Given the description of an element on the screen output the (x, y) to click on. 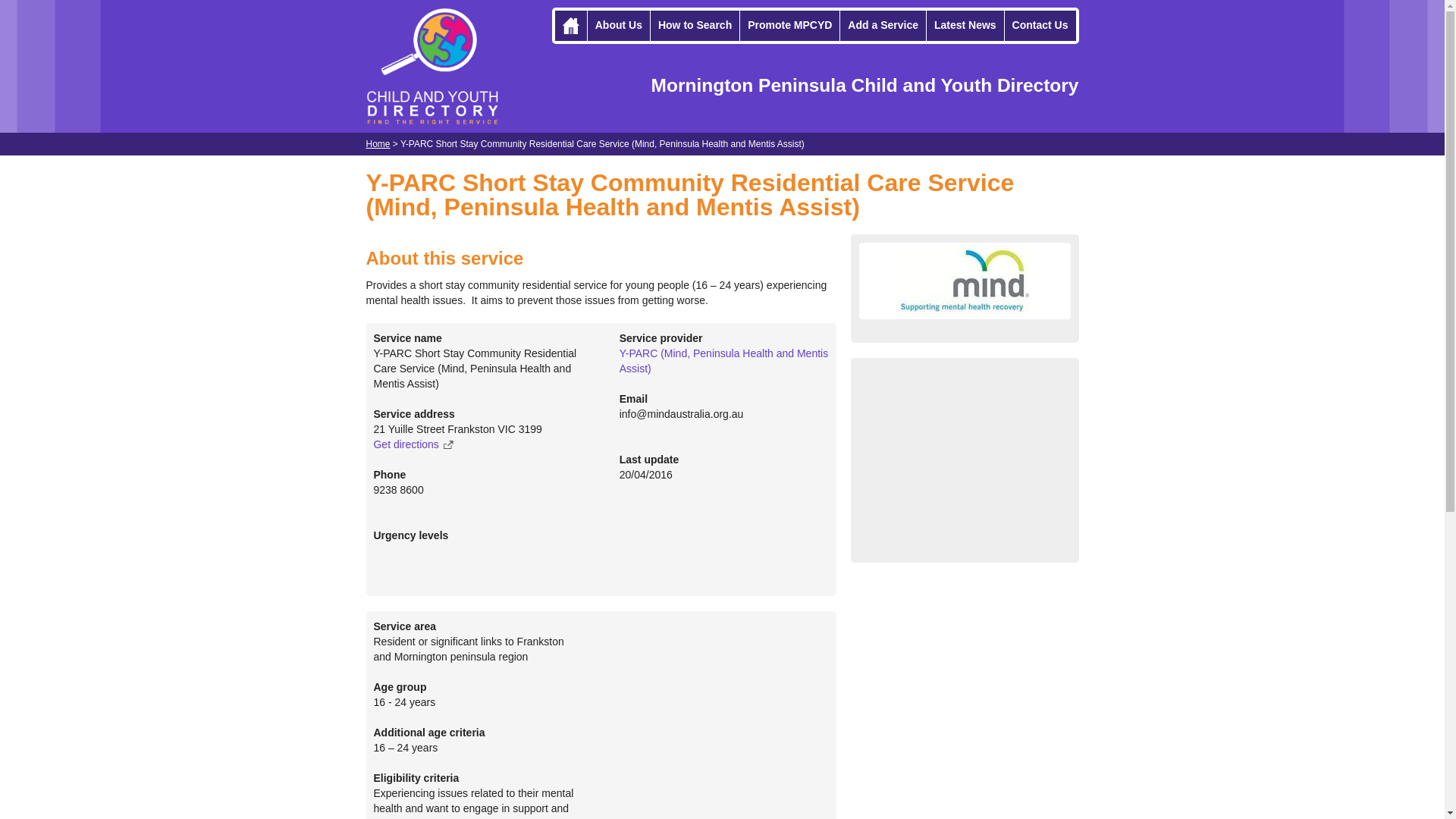
Y-PARC (Mind, Peninsula Health and Mentis Assist) Element type: text (723, 360)
How to Search Element type: text (694, 25)
Get directions Element type: text (413, 444)
Promote MPCYD Element type: text (789, 25)
Latest News Element type: text (965, 25)
Contact Us Element type: text (1040, 25)
Home Element type: text (377, 143)
About Us Element type: text (618, 25)
Add a Service Element type: text (882, 25)
